Given the description of an element on the screen output the (x, y) to click on. 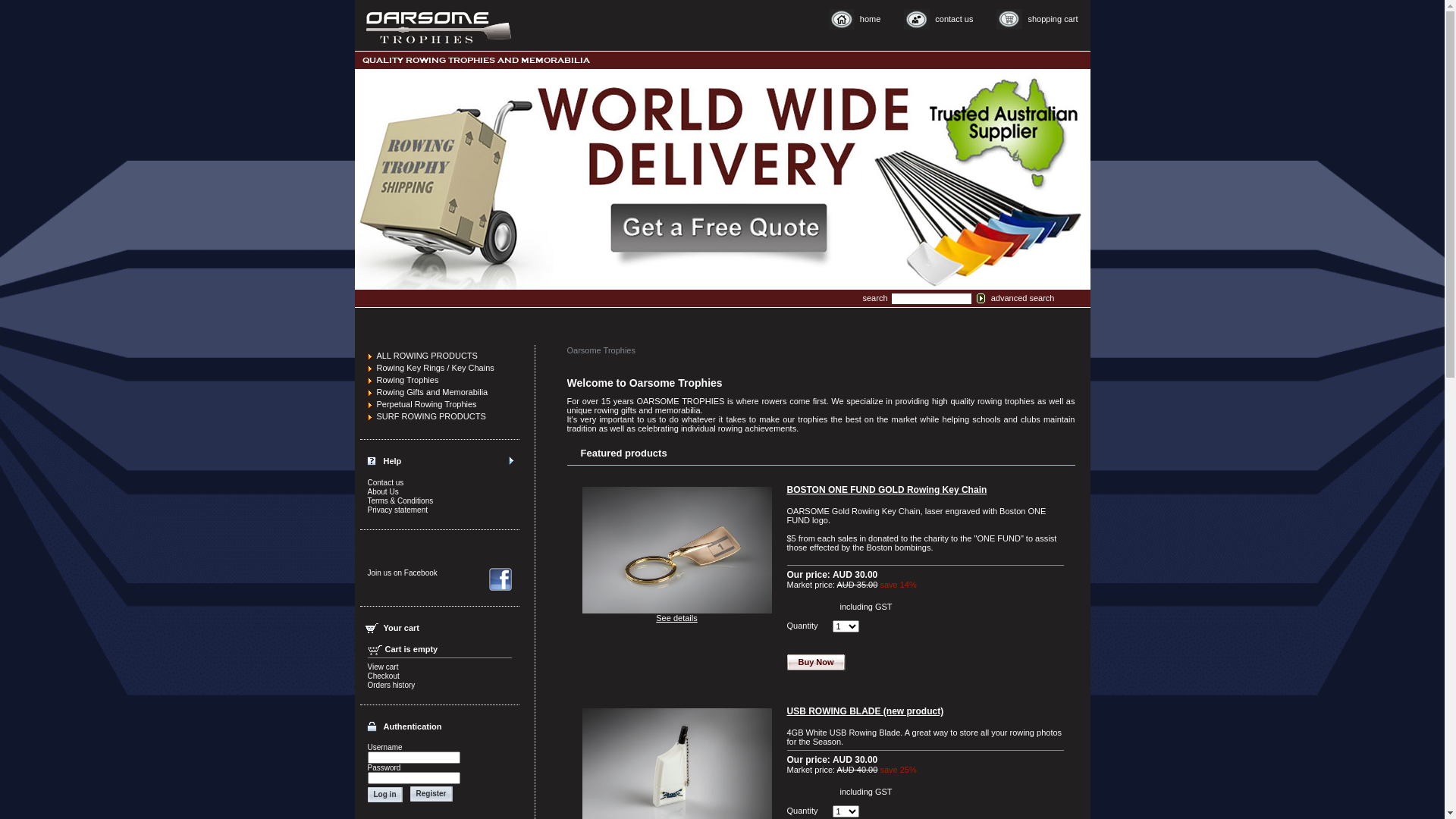
See details Element type: text (676, 617)
advanced search Element type: text (1022, 297)
Buy Now Element type: text (816, 662)
Privacy statement Element type: text (396, 509)
USB ROWING BLADE (new product) Element type: text (865, 711)
Join us on Facebook Element type: text (401, 572)
contact us Element type: text (936, 19)
Rowing Key Rings / Key Chains Element type: text (434, 367)
Rowing Gifts and Memorabilia Element type: text (431, 391)
Contact us Element type: text (385, 482)
BOSTON ONE FUND GOLD Rowing Key Chain Element type: text (887, 489)
home Element type: text (852, 19)
Register Element type: text (430, 793)
Perpetual Rowing Trophies Element type: text (426, 403)
Rowing Trophies Element type: text (407, 379)
shopping cart Element type: text (1035, 19)
ALL ROWING PRODUCTS Element type: text (426, 355)
Terms & Conditions Element type: text (400, 500)
Checkout Element type: text (382, 675)
View cart Element type: text (382, 666)
About Us Element type: text (382, 491)
Orders history Element type: text (390, 684)
Register Element type: text (427, 793)
Log in Element type: text (384, 794)
SURF ROWING PRODUCTS Element type: text (430, 415)
